Given the description of an element on the screen output the (x, y) to click on. 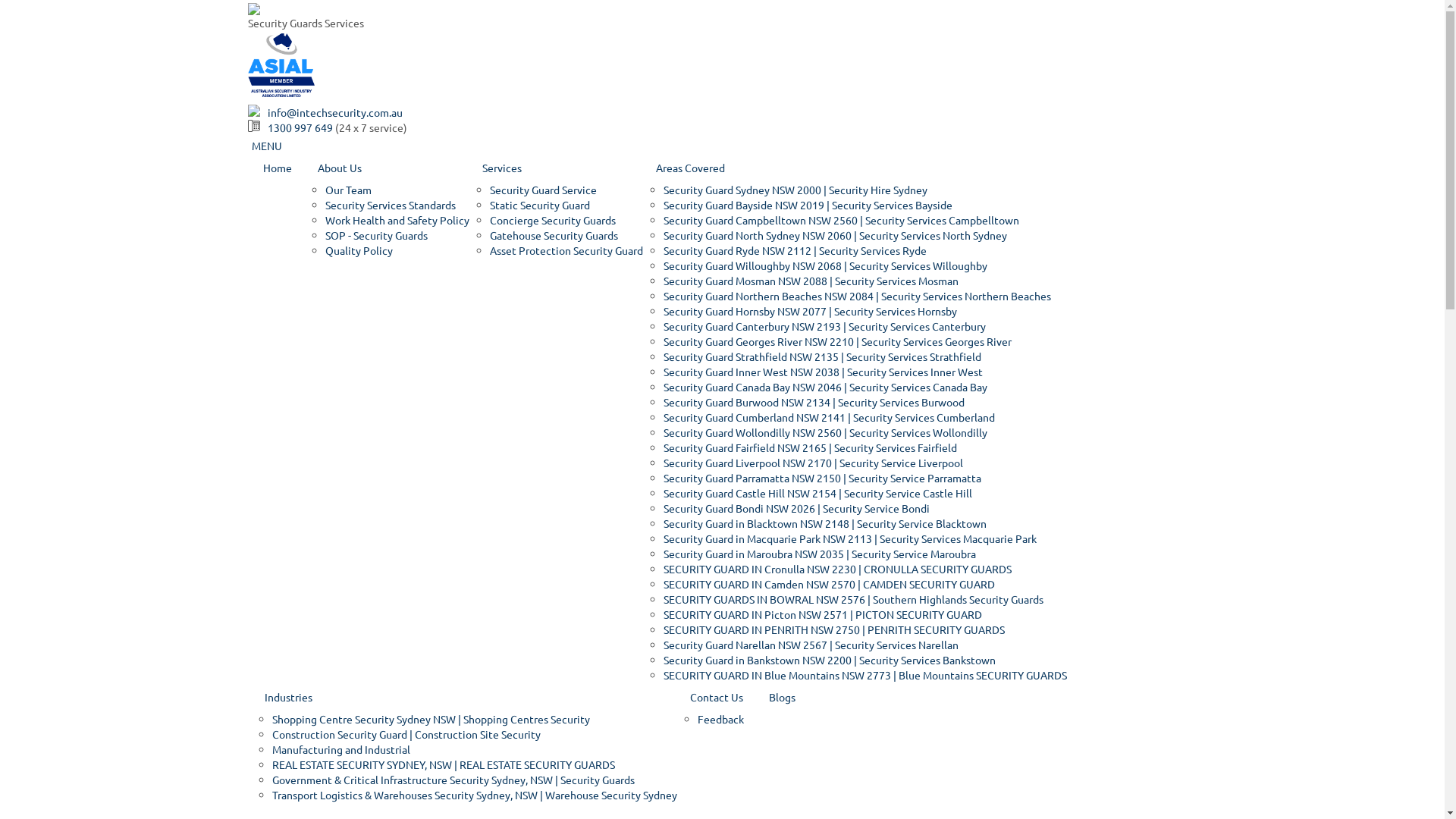
SOP - Security Guards Element type: text (375, 234)
info@intechsecurity.com.au Element type: text (333, 112)
Security Services Standards Element type: text (389, 204)
Security Guard Service Element type: text (542, 189)
Security Guard Hornsby NSW 2077 | Security Services Hornsby Element type: text (809, 310)
Security Guard Bayside NSW 2019 | Security Services Bayside Element type: text (806, 204)
Services Element type: text (555, 167)
SECURITY GUARD IN Camden NSW 2570 | CAMDEN SECURITY GUARD Element type: text (828, 583)
About Us Element type: text (386, 167)
Work Health and Safety Policy Element type: text (396, 219)
Intech Security Element type: hover (253, 7)
Blogs Element type: text (781, 696)
1300 997 649 Element type: text (299, 127)
Asset Protection Security Guard Element type: text (566, 250)
Our Team Element type: text (347, 189)
MENU Element type: text (266, 145)
Areas Covered Element type: text (854, 167)
Gatehouse Security Guards Element type: text (553, 234)
Security Guard Mosman NSW 2088 | Security Services Mosman Element type: text (809, 280)
Home Element type: text (277, 167)
Industries Element type: text (464, 696)
Manufacturing and Industrial Element type: text (340, 749)
Quality Policy Element type: text (358, 250)
Static Security Guard Element type: text (539, 204)
Security Guard Burwood NSW 2134 | Security Services Burwood Element type: text (812, 401)
Security Guard Ryde NSW 2112 | Security Services Ryde Element type: text (793, 250)
Construction Security Guard | Construction Site Security Element type: text (405, 733)
Contact Us Element type: text (715, 696)
SECURITY GUARD IN Picton NSW 2571 | PICTON SECURITY GUARD Element type: text (821, 614)
Concierge Security Guards Element type: text (552, 219)
Feedback Element type: text (720, 718)
SECURITY GUARD IN PENRITH NSW 2750 | PENRITH SECURITY GUARDS Element type: text (833, 629)
Security Guard Sydney NSW 2000 | Security Hire Sydney Element type: text (794, 189)
Security Guard Bondi NSW 2026 | Security Service Bondi Element type: text (795, 507)
